Given the description of an element on the screen output the (x, y) to click on. 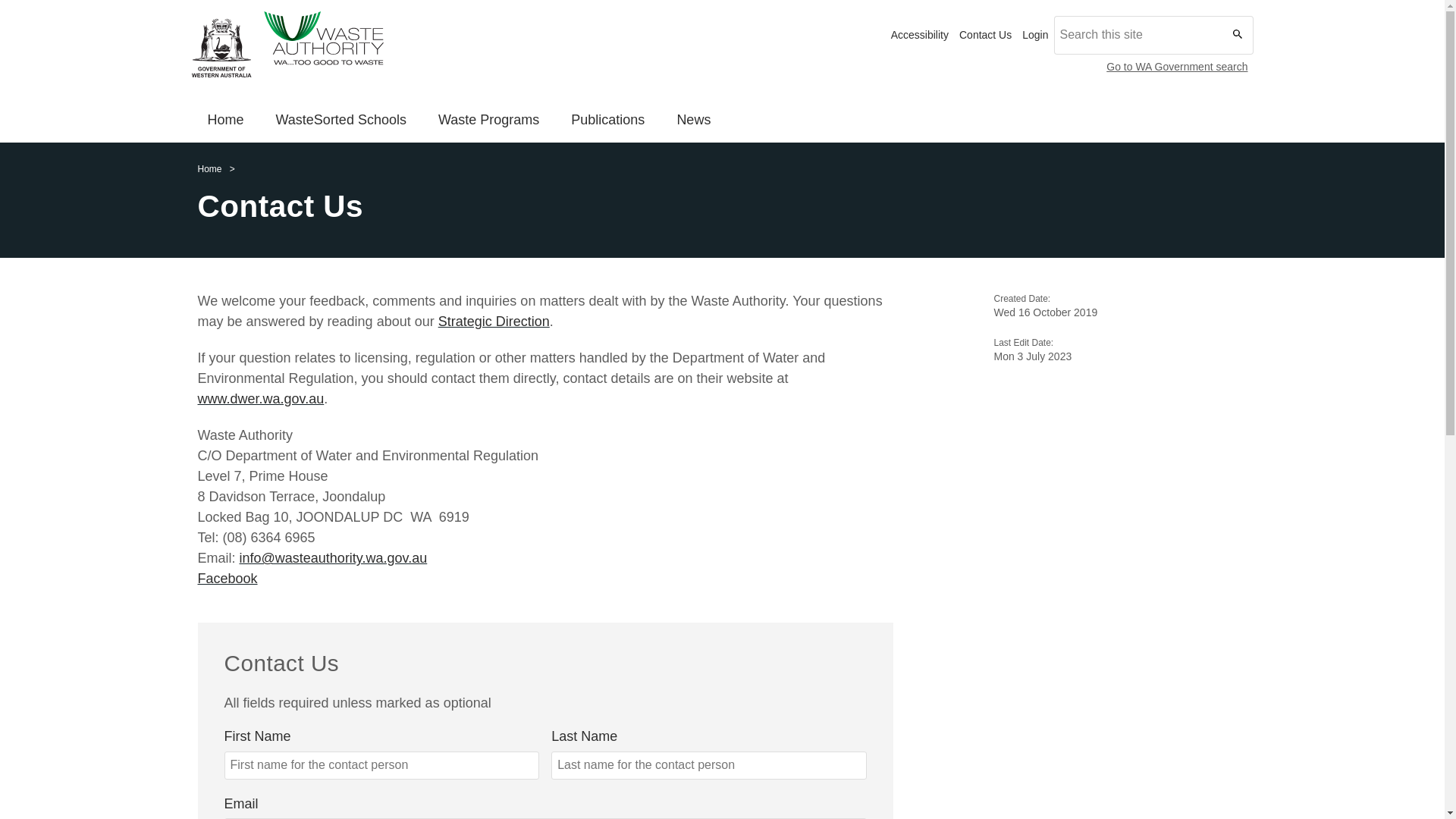
Search Element type: text (206, 130)
www.dwer.wa.gov.au Element type: text (260, 398)
Home Element type: text (225, 121)
The Waste Authority home page Element type: hover (537, 47)
Accessibility Element type: text (919, 34)
info@wasteauthority.wa.gov.au Element type: text (333, 557)
Home Element type: text (209, 169)
Contact Element type: text (206, 120)
Contact Us Element type: text (984, 34)
Strategic Direction Element type: text (493, 321)
Search the Waste Authority Element type: text (1234, 34)
Login Element type: text (1034, 34)
Waste Programs Element type: text (488, 121)
Facebook Element type: text (227, 578)
WasteSorted Schools Element type: text (341, 121)
News Element type: text (693, 121)
Go to WA Government search Element type: text (1176, 66)
Publications Element type: text (607, 121)
